Given the description of an element on the screen output the (x, y) to click on. 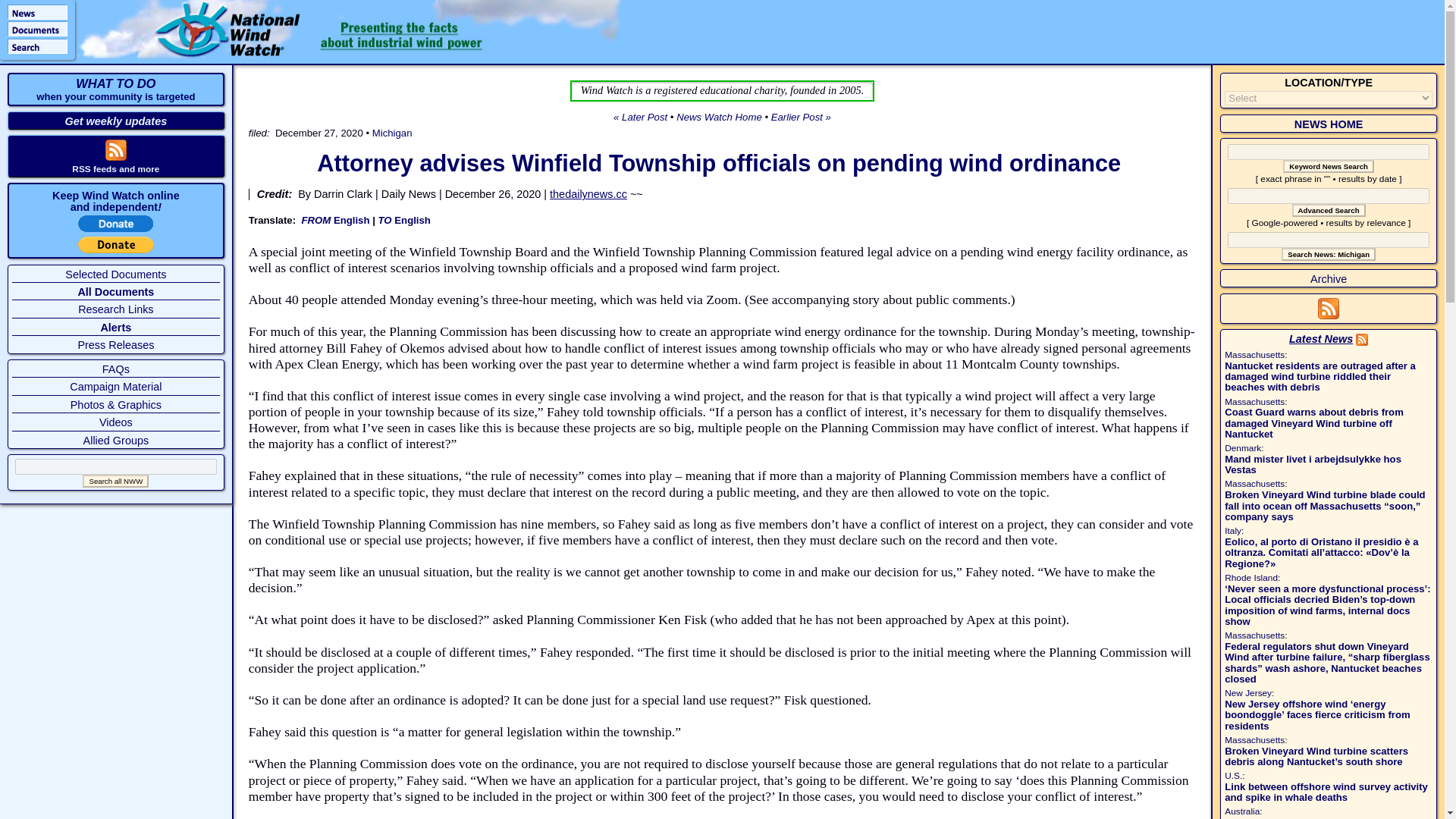
Keyword News Search (1328, 165)
Search News: Michigan (1328, 254)
Denmark (1242, 448)
Italy (1232, 530)
U.S. (1232, 775)
Advanced Search (1328, 210)
Massachusetts (1254, 634)
Massachusetts (1254, 354)
Rhode Island (1251, 577)
View News Watch Feed (1361, 338)
NEWS HOME (1328, 123)
Search all NWW (115, 481)
Massachusetts (1254, 739)
Advanced Search (1328, 210)
